Given the description of an element on the screen output the (x, y) to click on. 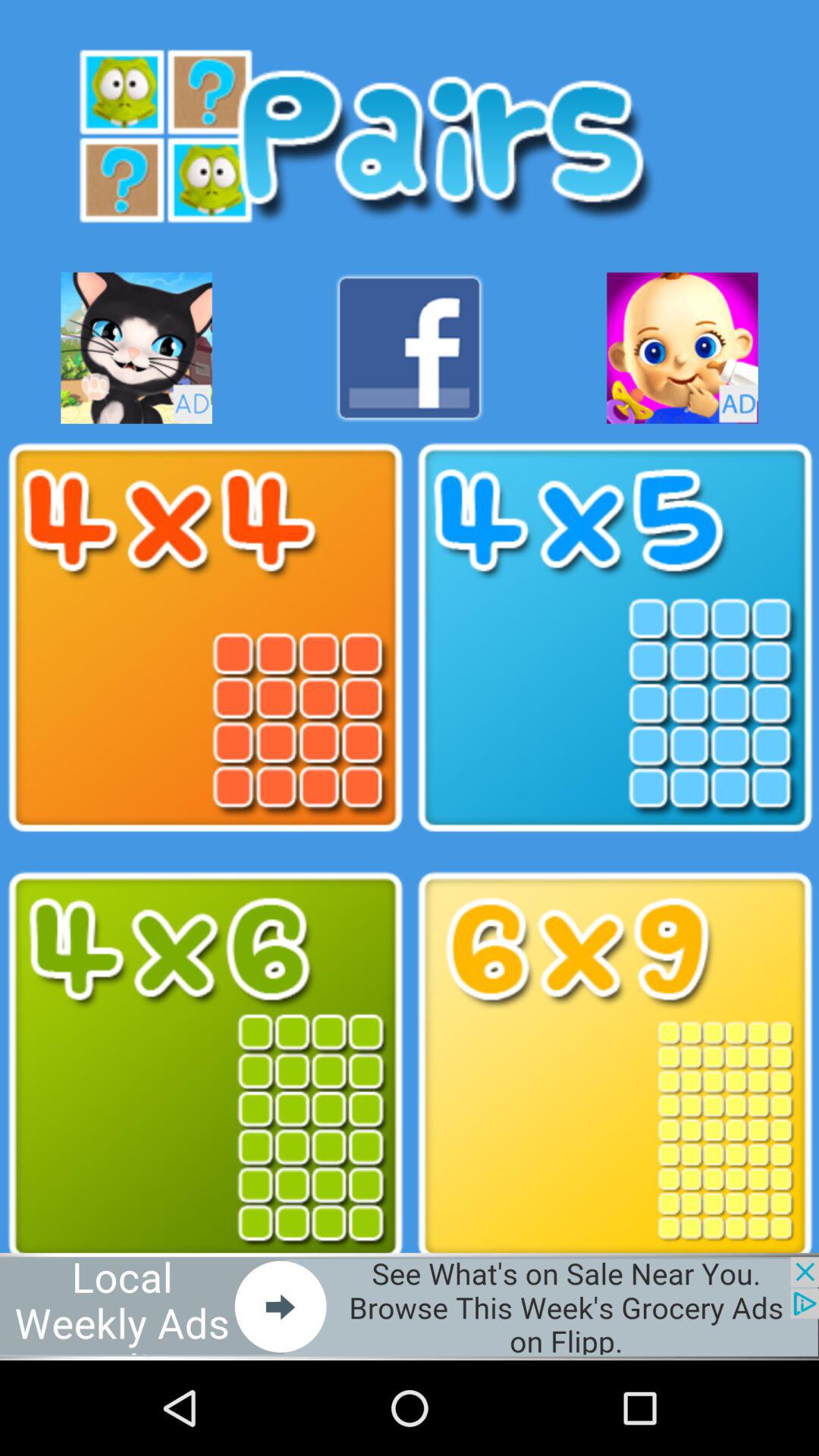
open the advertisements (136, 347)
